Given the description of an element on the screen output the (x, y) to click on. 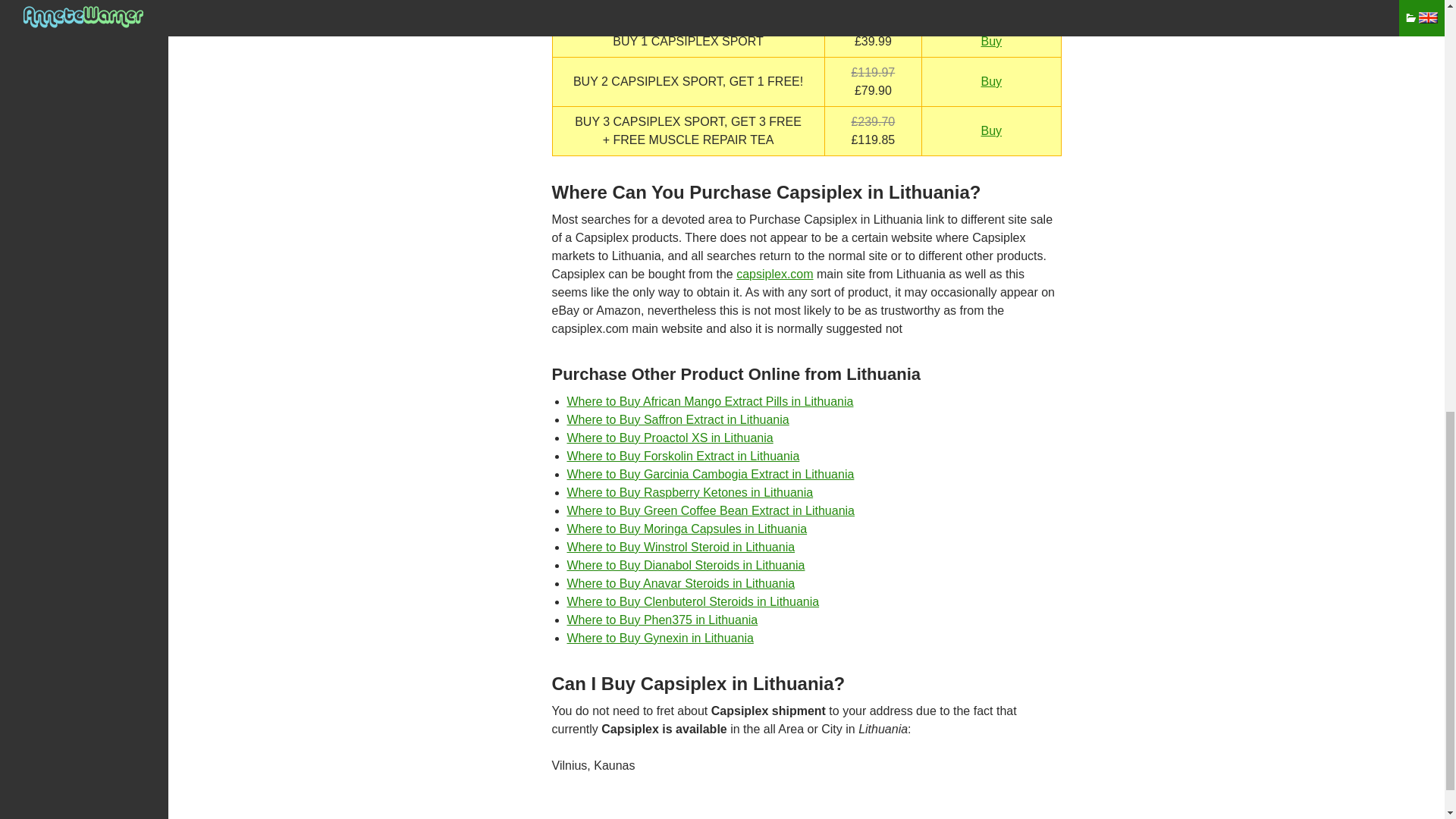
Where to Buy Moringa Capsules in Lithuania (687, 528)
Where to Buy Raspberry Ketones in Lithuania (690, 492)
Where to Buy forskolin online Lithuania (683, 455)
Where to Buy Winstrol Steroid in Lithuania (680, 546)
Kaunas (614, 765)
Where to Buy dianabol-steroids online Lithuania (686, 564)
Where to Buy Capsiplex in Vilnius (569, 765)
Where to Buy Phen375 in Lithuania (662, 619)
Where to Buy African Mango Extract Pills in Lithuania (710, 400)
Where to Buy Green Coffee Bean Extract in Lithuania (710, 510)
Where to Buy raspberry-ketones online Lithuania (690, 492)
Where to Buy winstrol-steroids online Lithuania (680, 546)
Where to Buy garcinia-cambogia-extract online Lithuania (710, 473)
Where to Buy Anavar Steroids in Lithuania (680, 583)
Where to Buy anavar-steroids online Lithuania (680, 583)
